Given the description of an element on the screen output the (x, y) to click on. 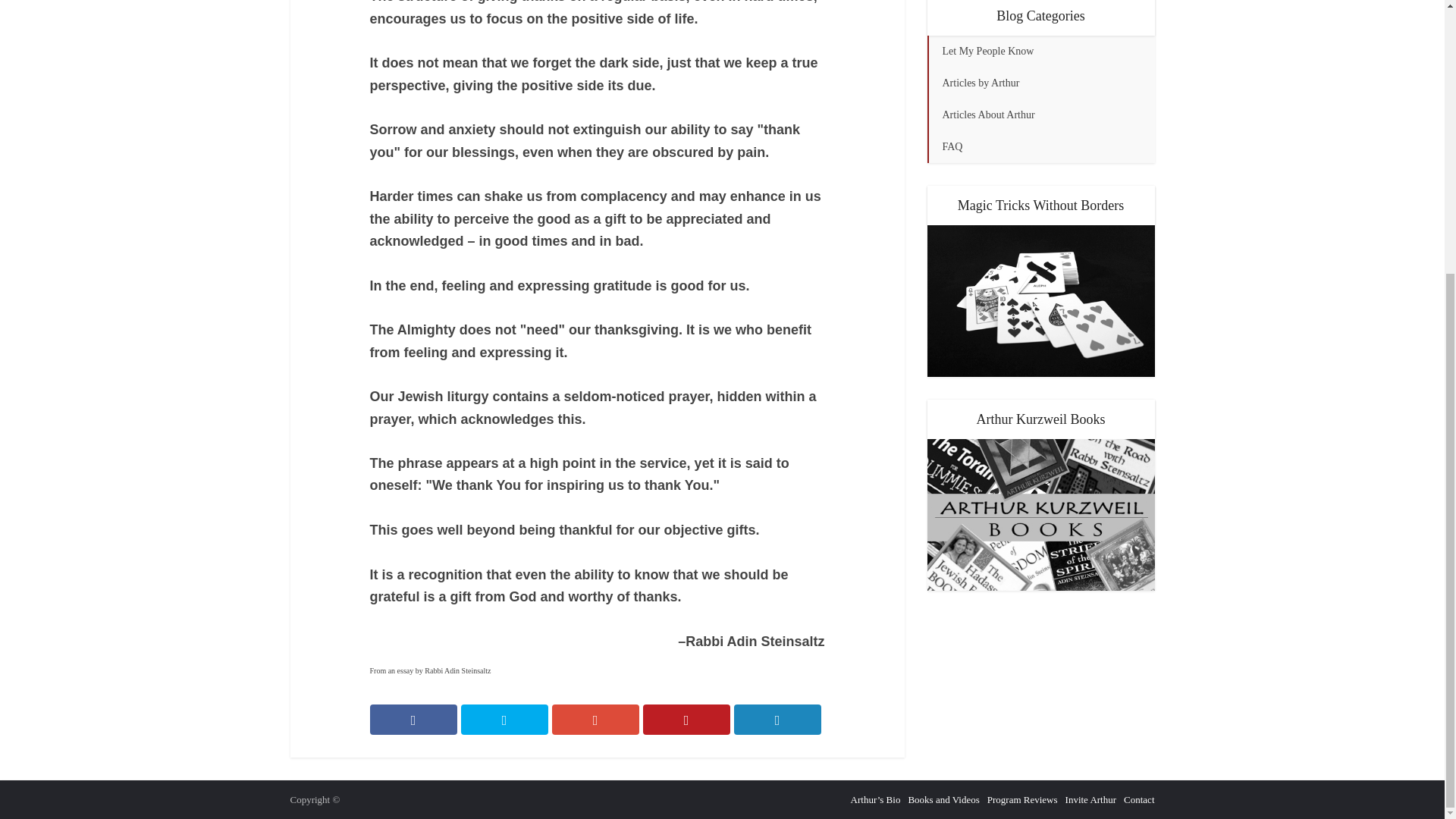
Program Reviews (1022, 799)
Let My People Know (1040, 51)
Books and Videos (942, 799)
Contact (1139, 799)
FAQ (1040, 146)
Articles by Arthur (1040, 83)
Invite Arthur (1090, 799)
Articles About Arthur (1040, 115)
